Given the description of an element on the screen output the (x, y) to click on. 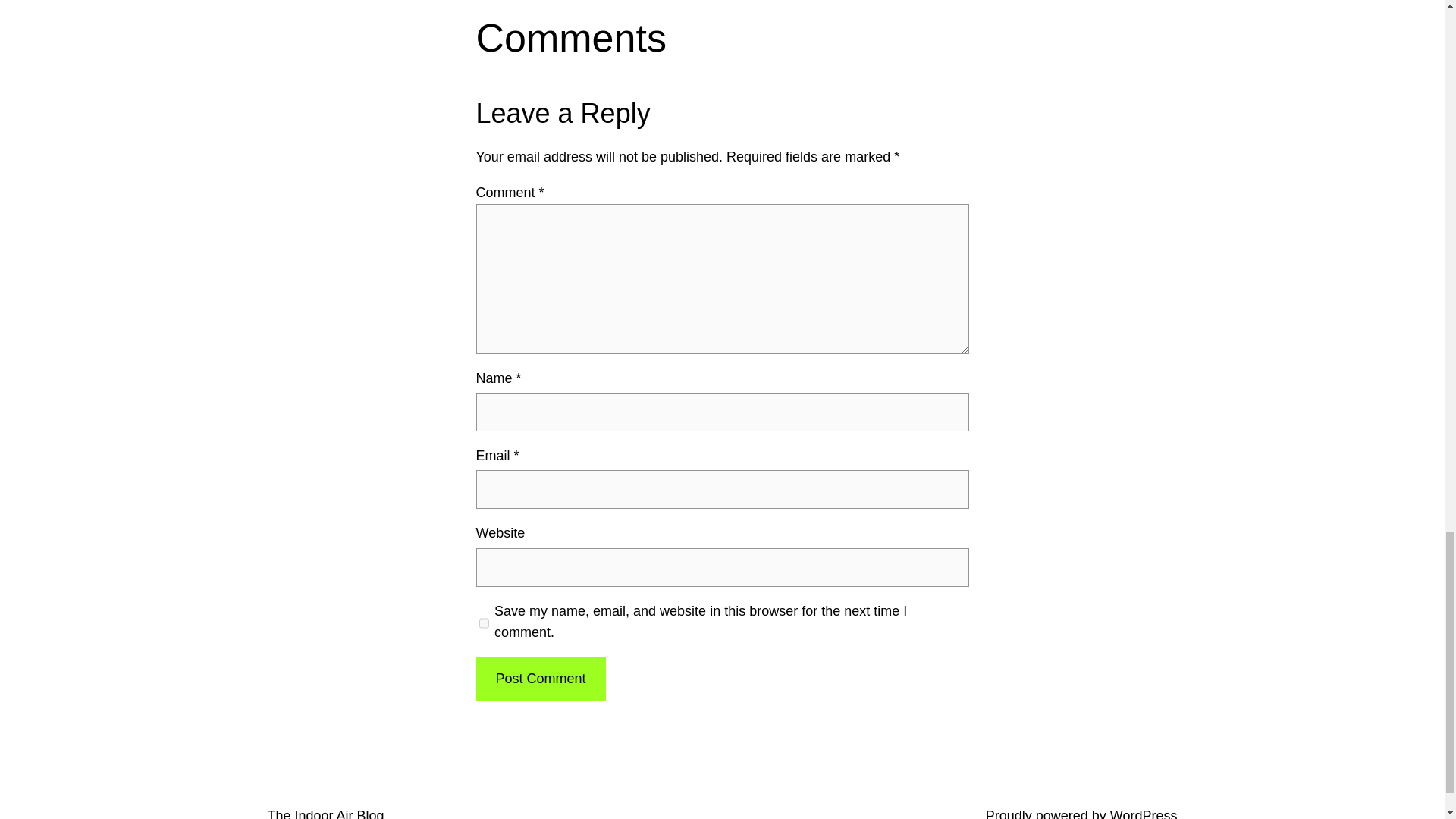
The Indoor Air Blog (325, 813)
WordPress (1143, 813)
Post Comment (540, 679)
Post Comment (540, 679)
